Given the description of an element on the screen output the (x, y) to click on. 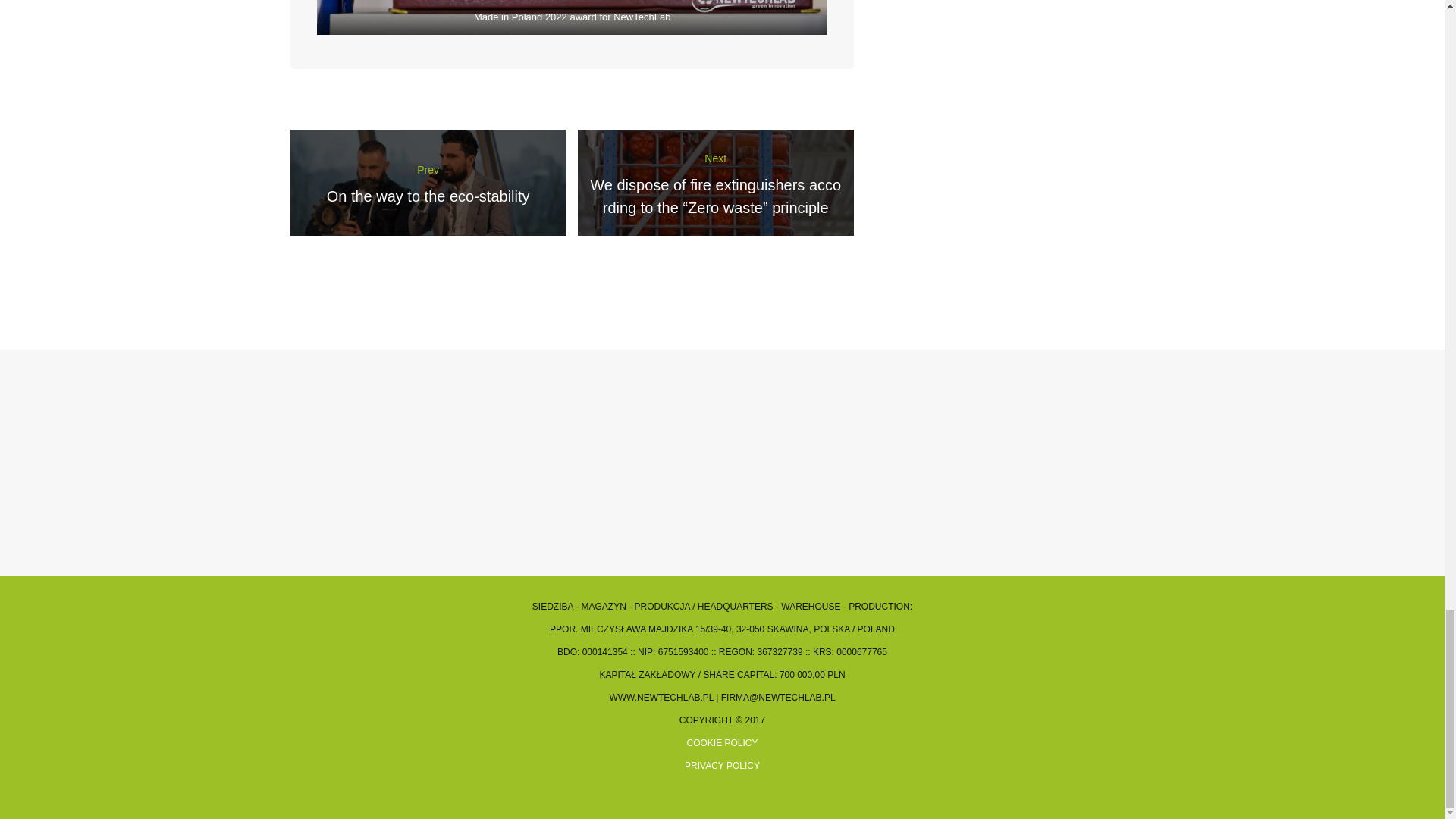
PRIVACY POLICY (427, 182)
COOKIE POLICY (722, 765)
